Given the description of an element on the screen output the (x, y) to click on. 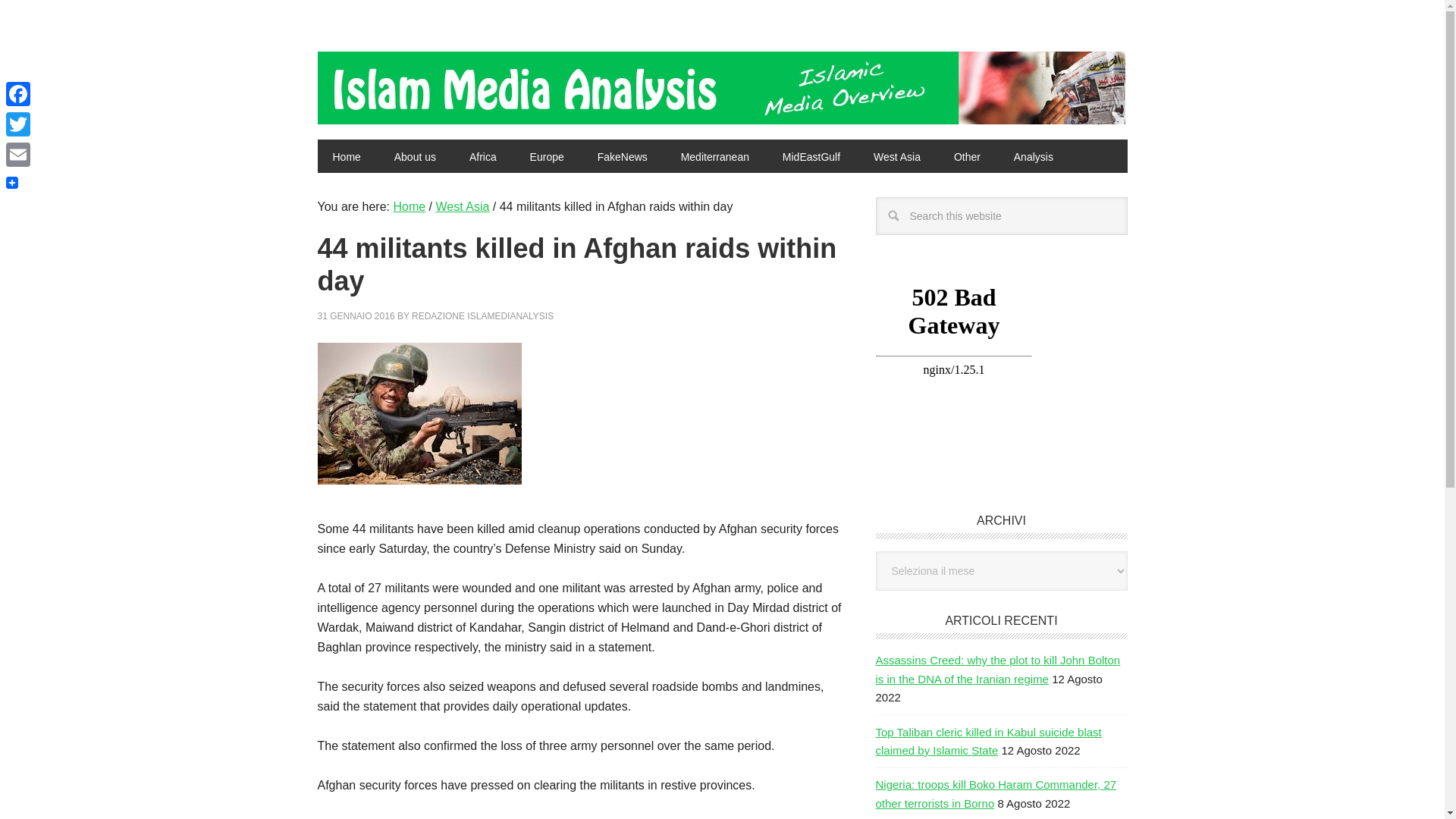
Mediterranean (714, 155)
Twitter (17, 123)
Facebook (17, 93)
ISLAM MEDIA ANALYSIS (419, 81)
MidEastGulf (811, 155)
Email (17, 154)
Facebook (17, 93)
Home (409, 205)
